Given the description of an element on the screen output the (x, y) to click on. 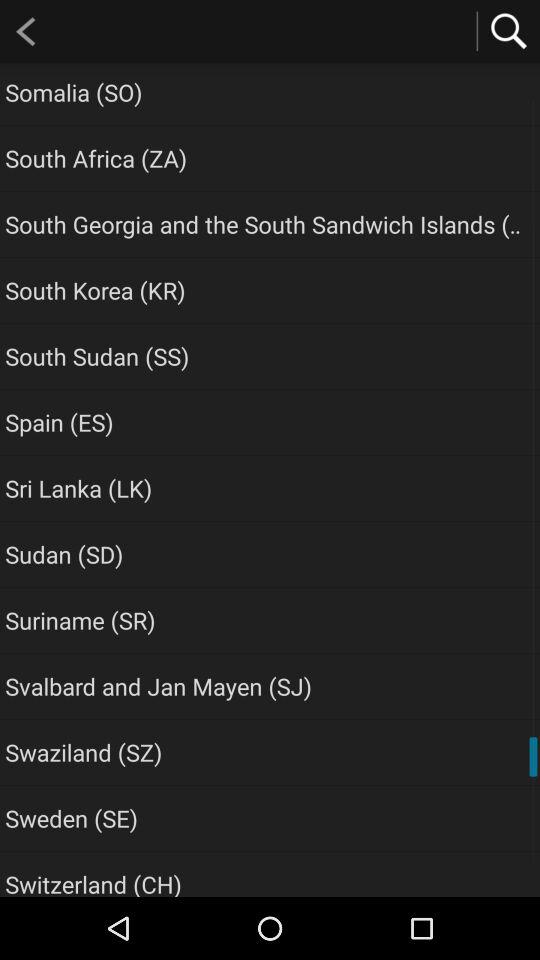
press item above the suriname (sr) app (64, 554)
